Given the description of an element on the screen output the (x, y) to click on. 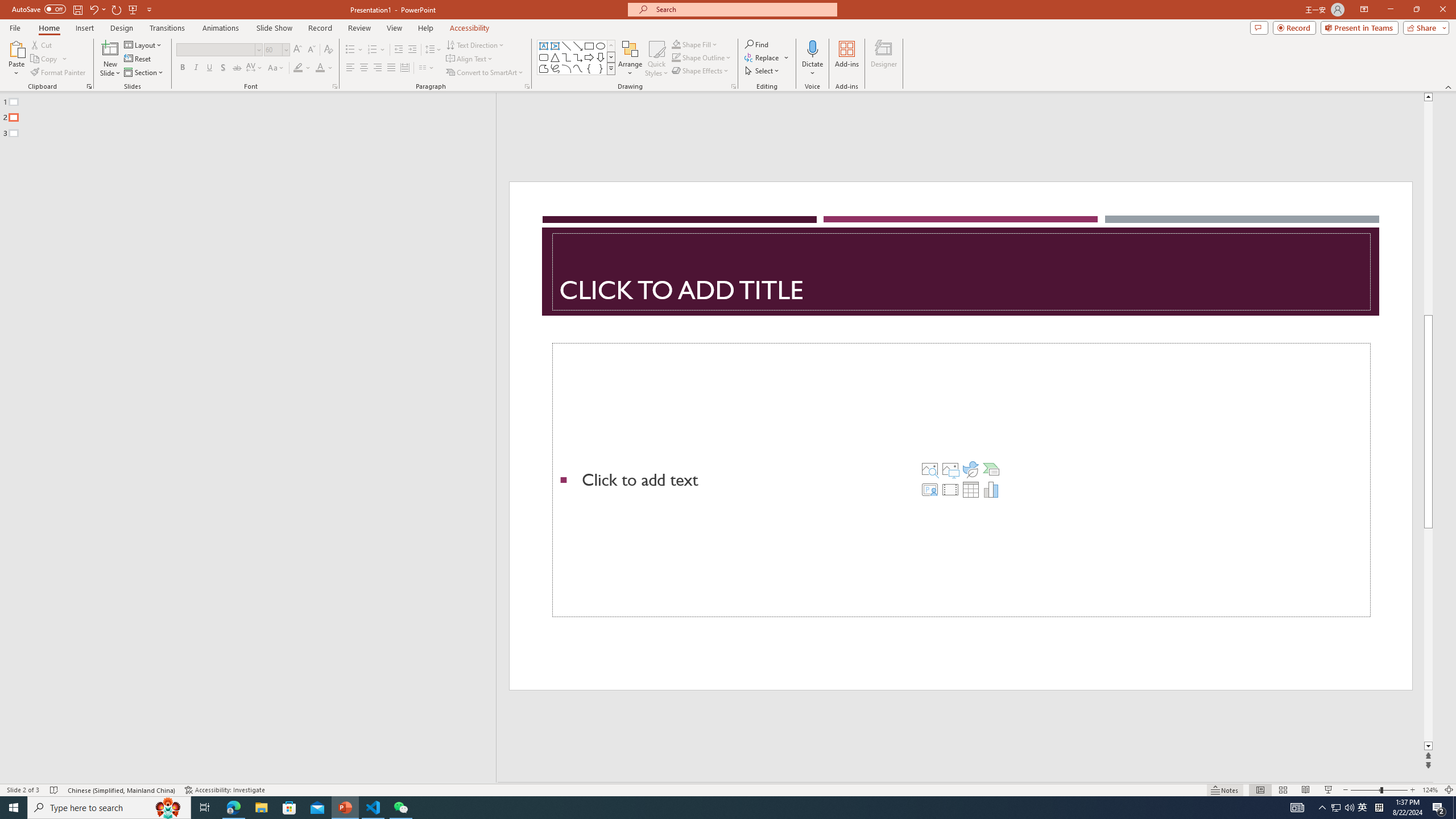
Outline (252, 114)
Insert an Icon (970, 469)
